Given the description of an element on the screen output the (x, y) to click on. 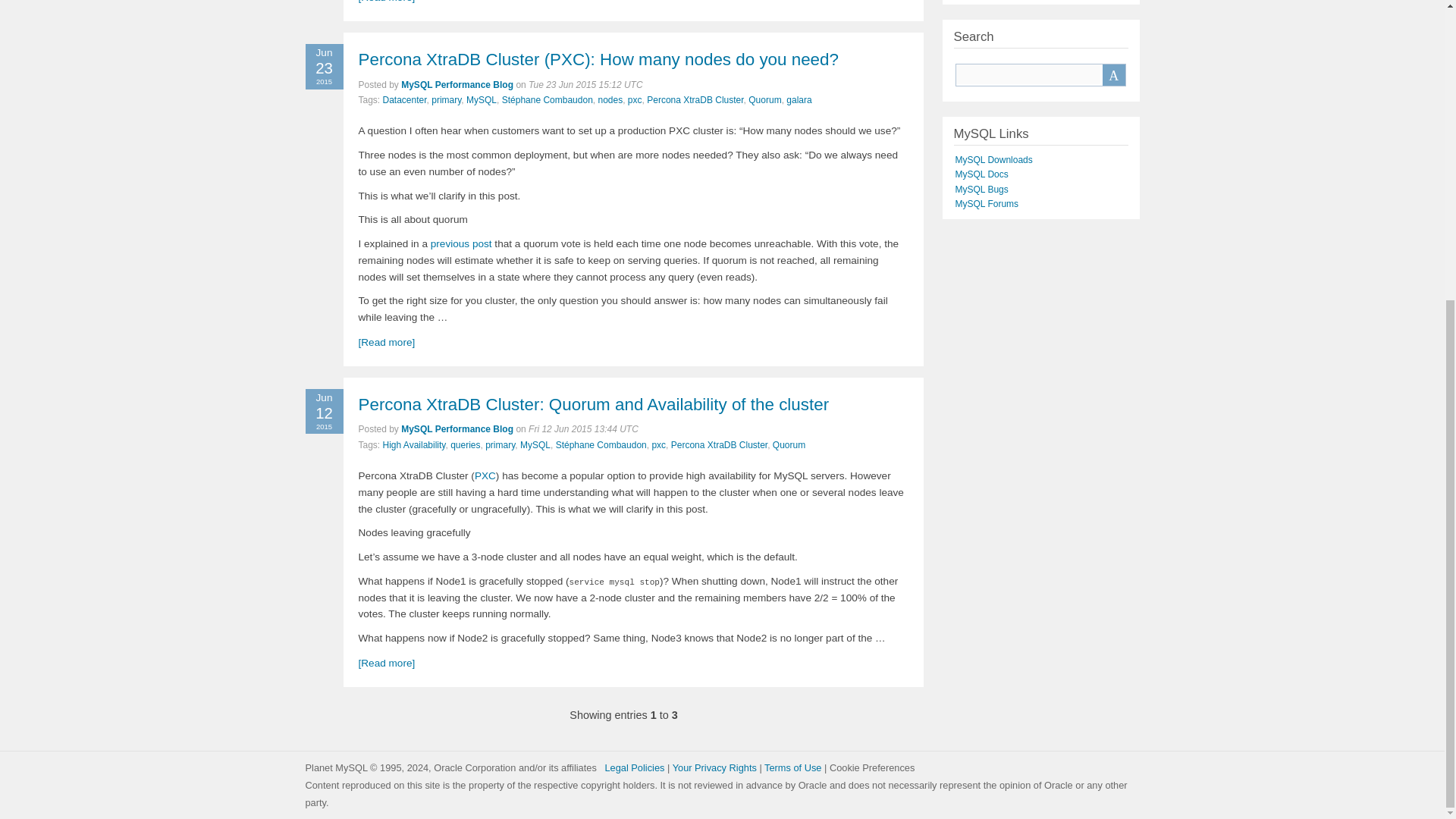
Datacenter (404, 100)
MySQL Performance Blog (457, 84)
Search (1113, 74)
primary (445, 100)
